Given the description of an element on the screen output the (x, y) to click on. 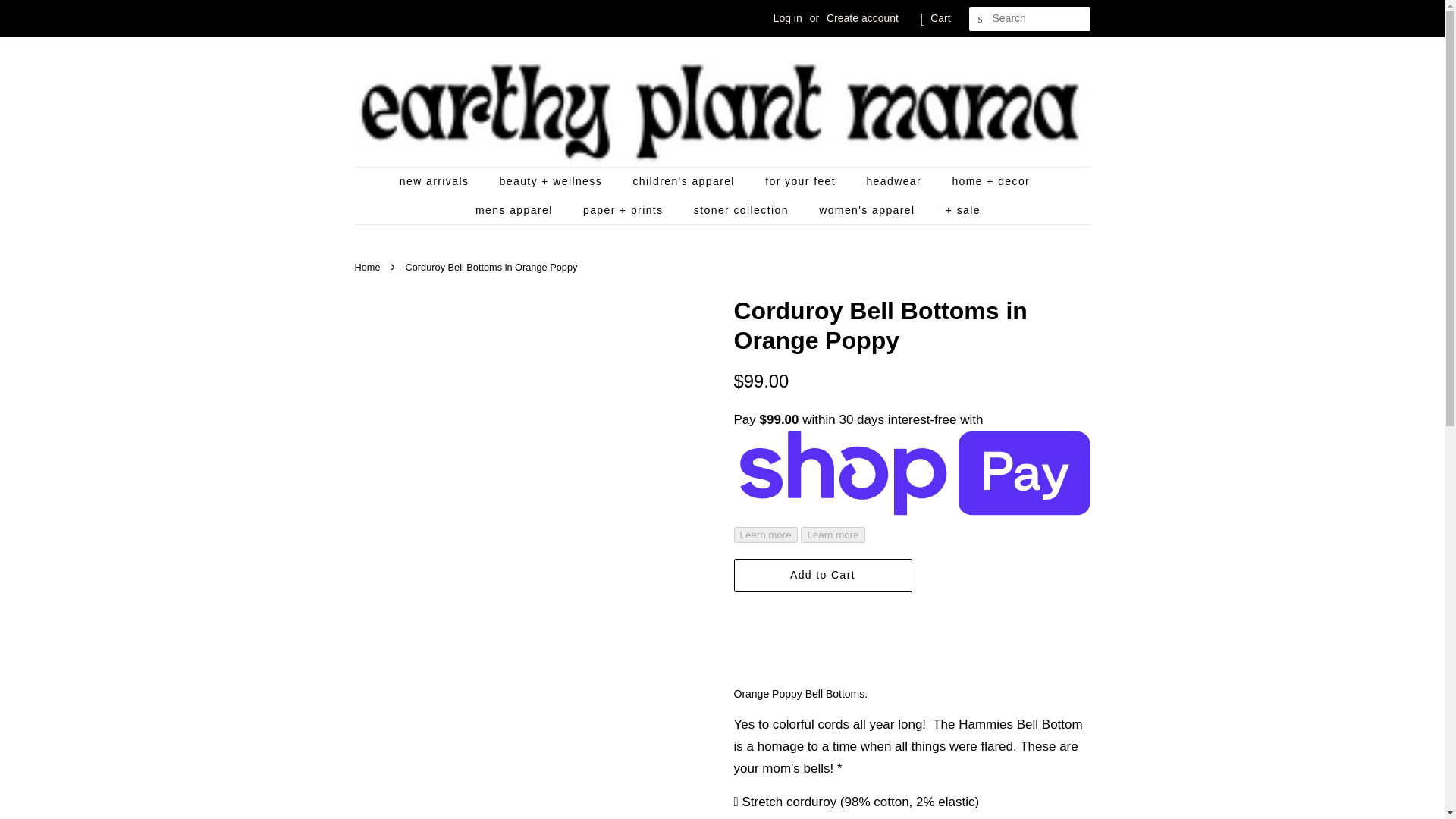
Cart (940, 18)
Log in (787, 18)
Create account (862, 18)
children's apparel (685, 181)
mens apparel (515, 210)
Home (369, 266)
Back to the frontpage (369, 266)
stoner collection (742, 210)
Search (980, 18)
for your feet (802, 181)
women's apparel (869, 210)
headwear (895, 181)
new arrivals (441, 181)
